Given the description of an element on the screen output the (x, y) to click on. 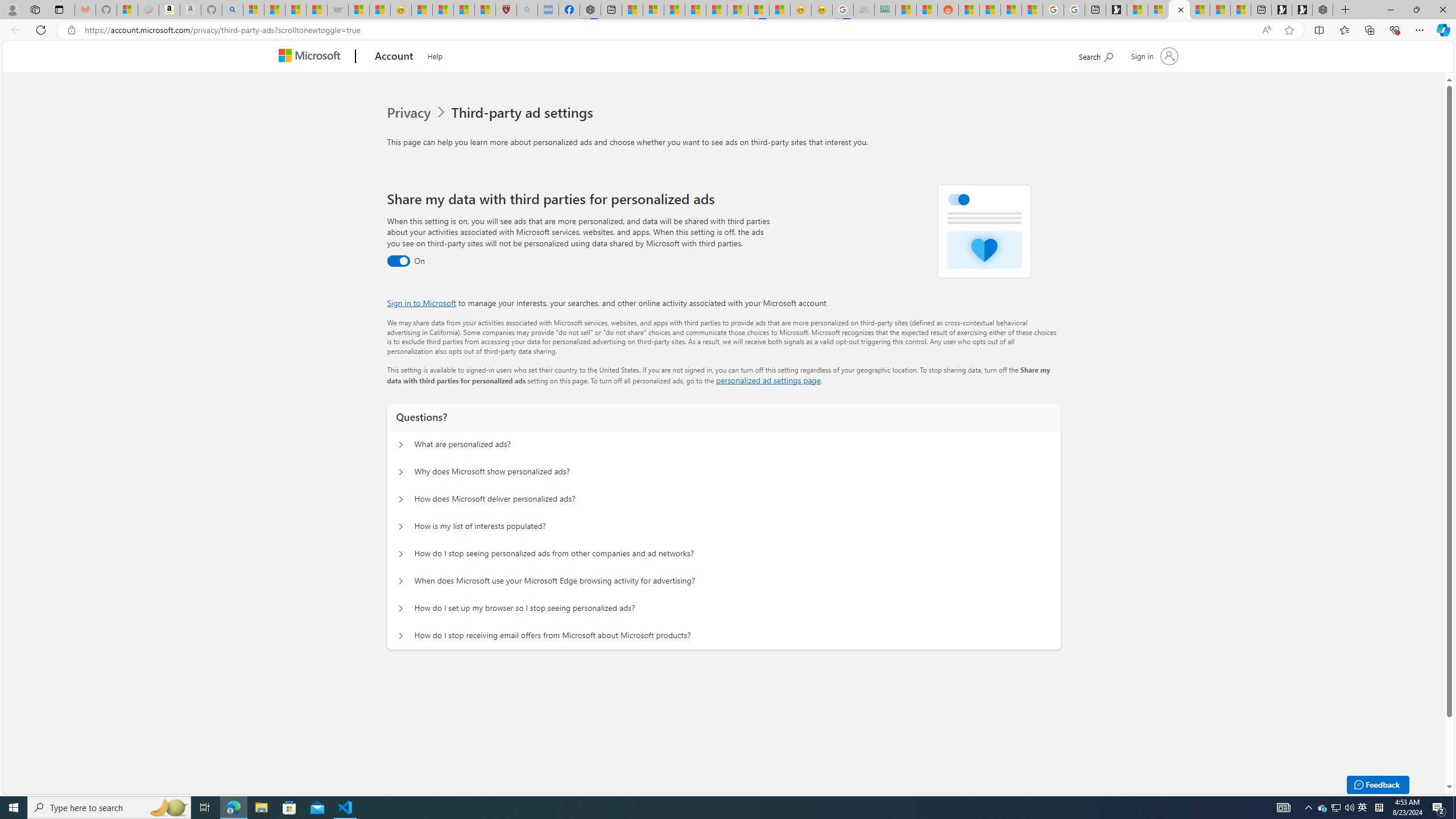
personalized ad settings page (767, 379)
